Given the description of an element on the screen output the (x, y) to click on. 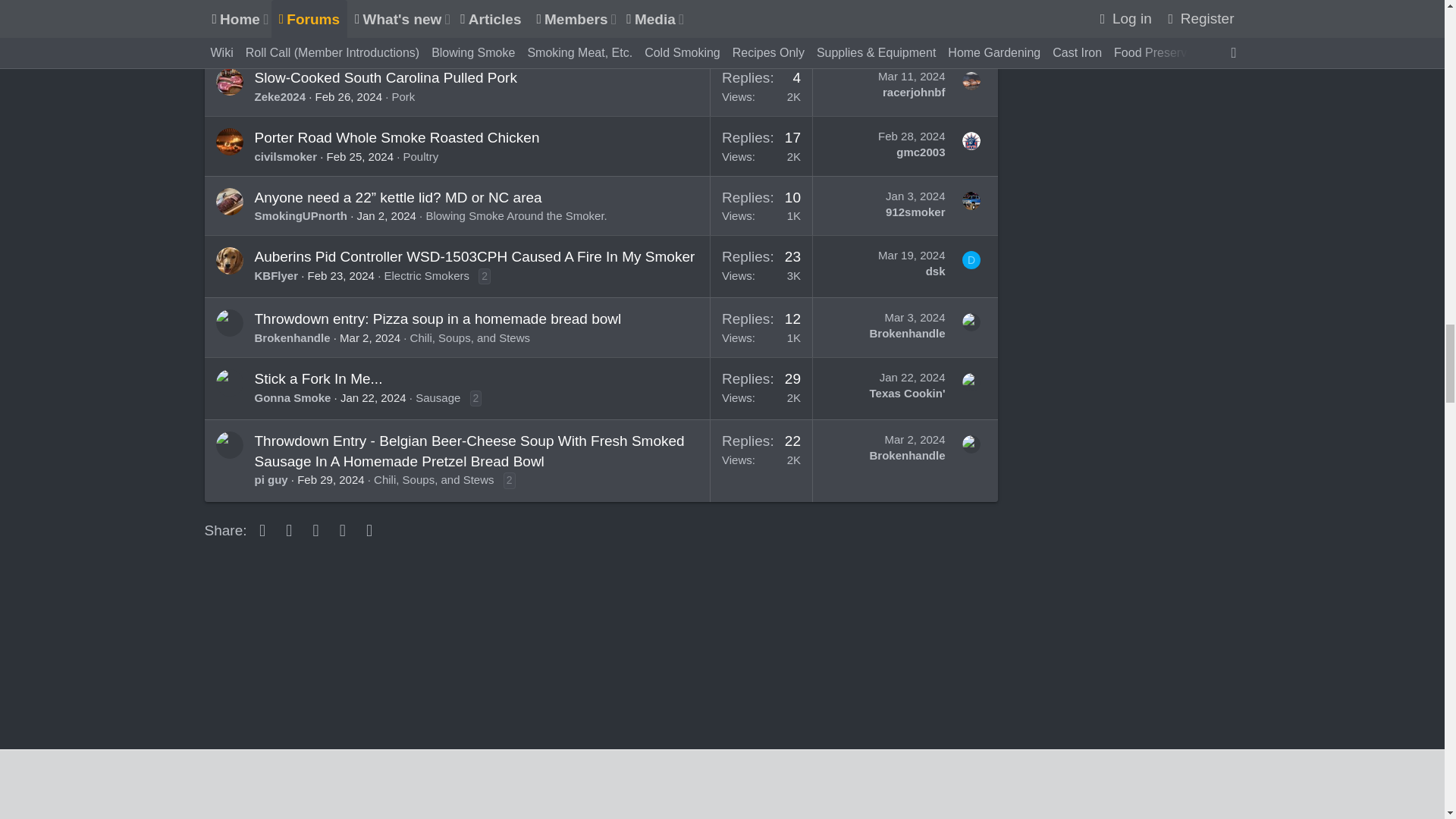
First message reaction score: 0 (761, 28)
First message reaction score: 4 (761, 86)
May 5, 2024 at 7:22 AM (913, 16)
May 4, 2024 at 9:16 PM (365, 36)
First message reaction score: 14 (761, 146)
Feb 26, 2024 at 8:09 AM (348, 96)
Feb 25, 2024 at 9:49 PM (359, 155)
Mar 11, 2024 at 3:04 PM (910, 75)
